Given the description of an element on the screen output the (x, y) to click on. 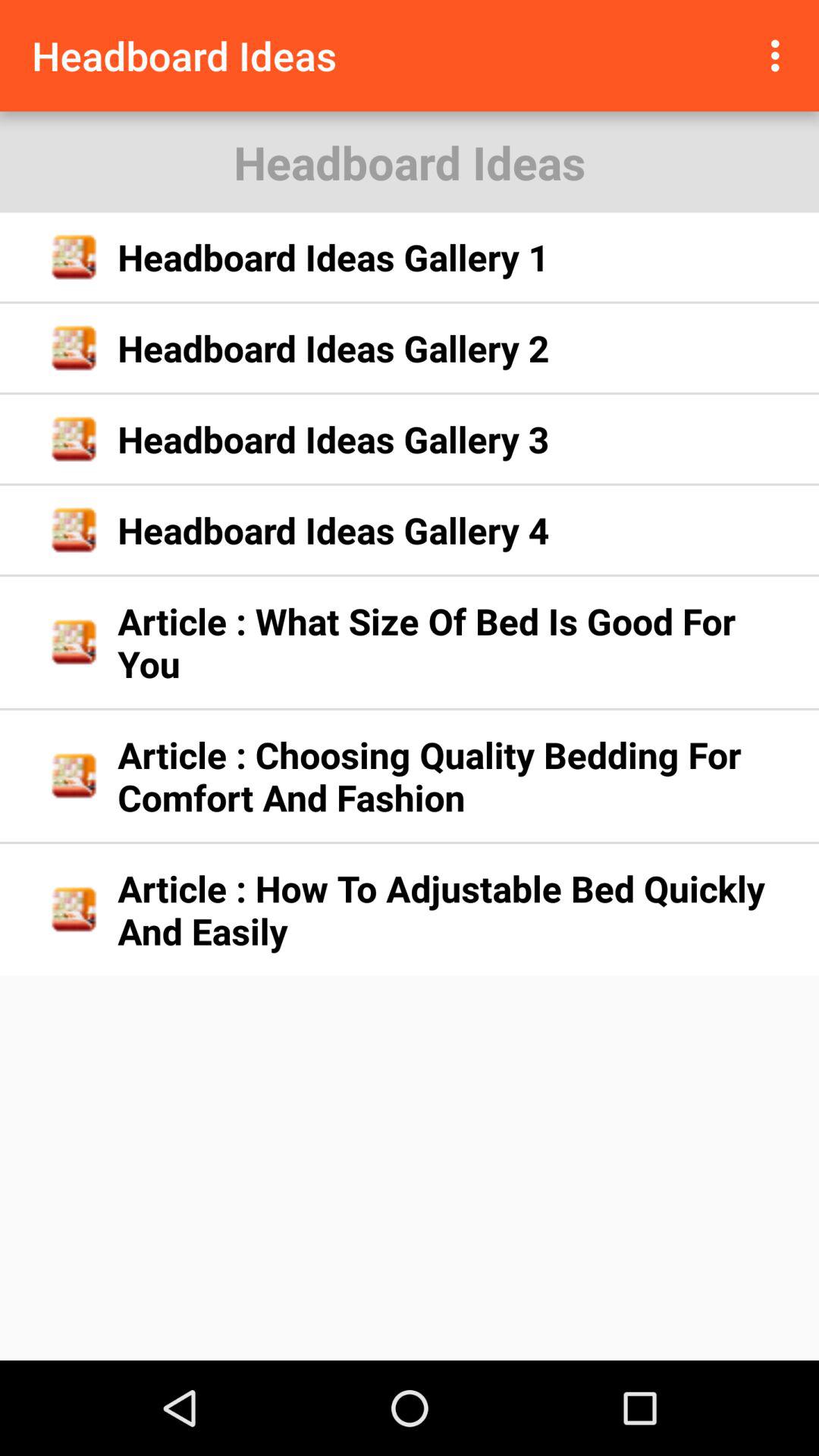
press the item above headboard ideas icon (779, 55)
